Given the description of an element on the screen output the (x, y) to click on. 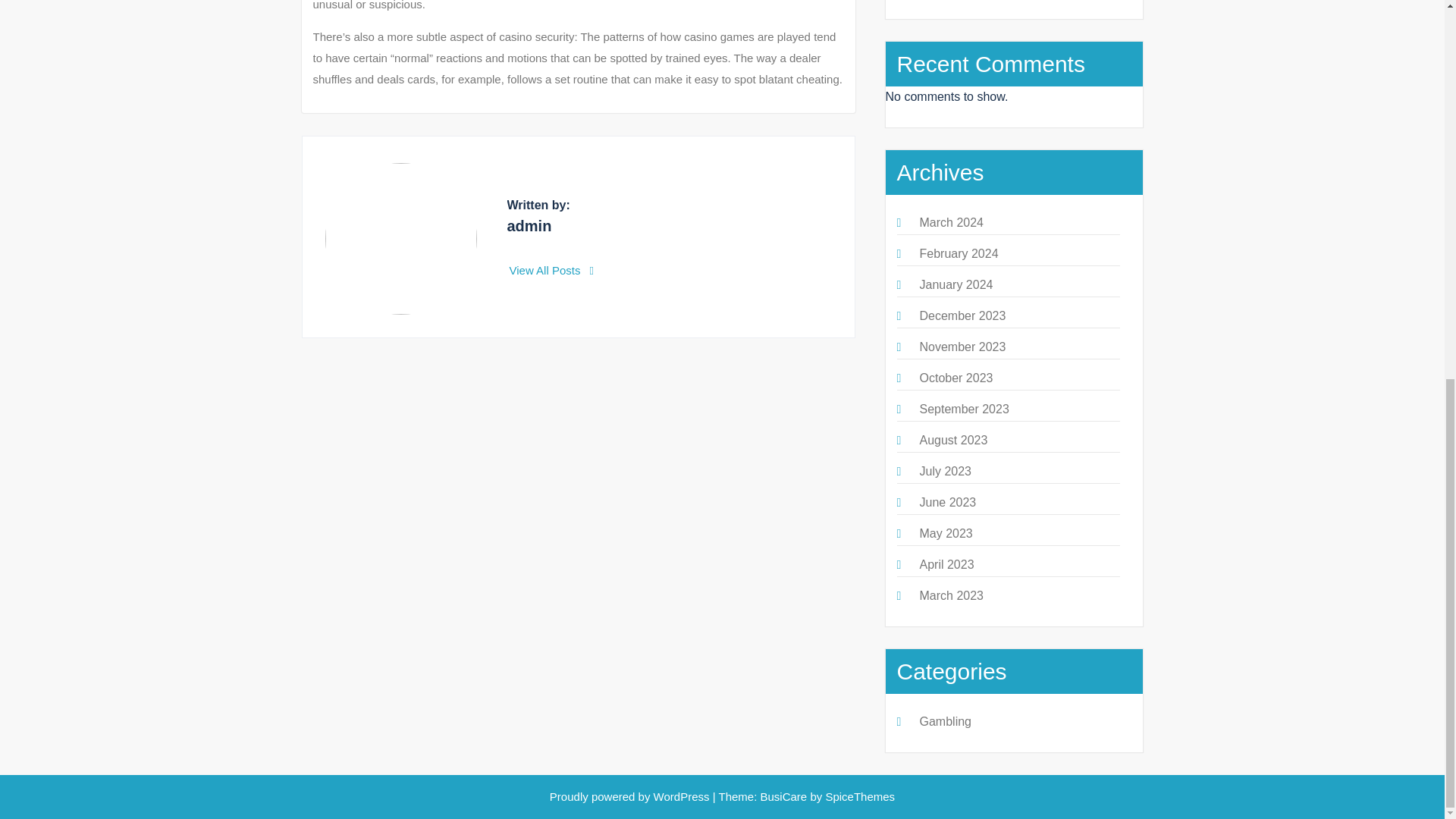
SpiceThemes (860, 796)
December 2023 (962, 315)
September 2023 (963, 408)
February 2024 (957, 253)
Gambling (944, 721)
BusiCare (784, 796)
March 2023 (951, 594)
April 2023 (946, 563)
November 2023 (962, 346)
October 2023 (955, 377)
